Given the description of an element on the screen output the (x, y) to click on. 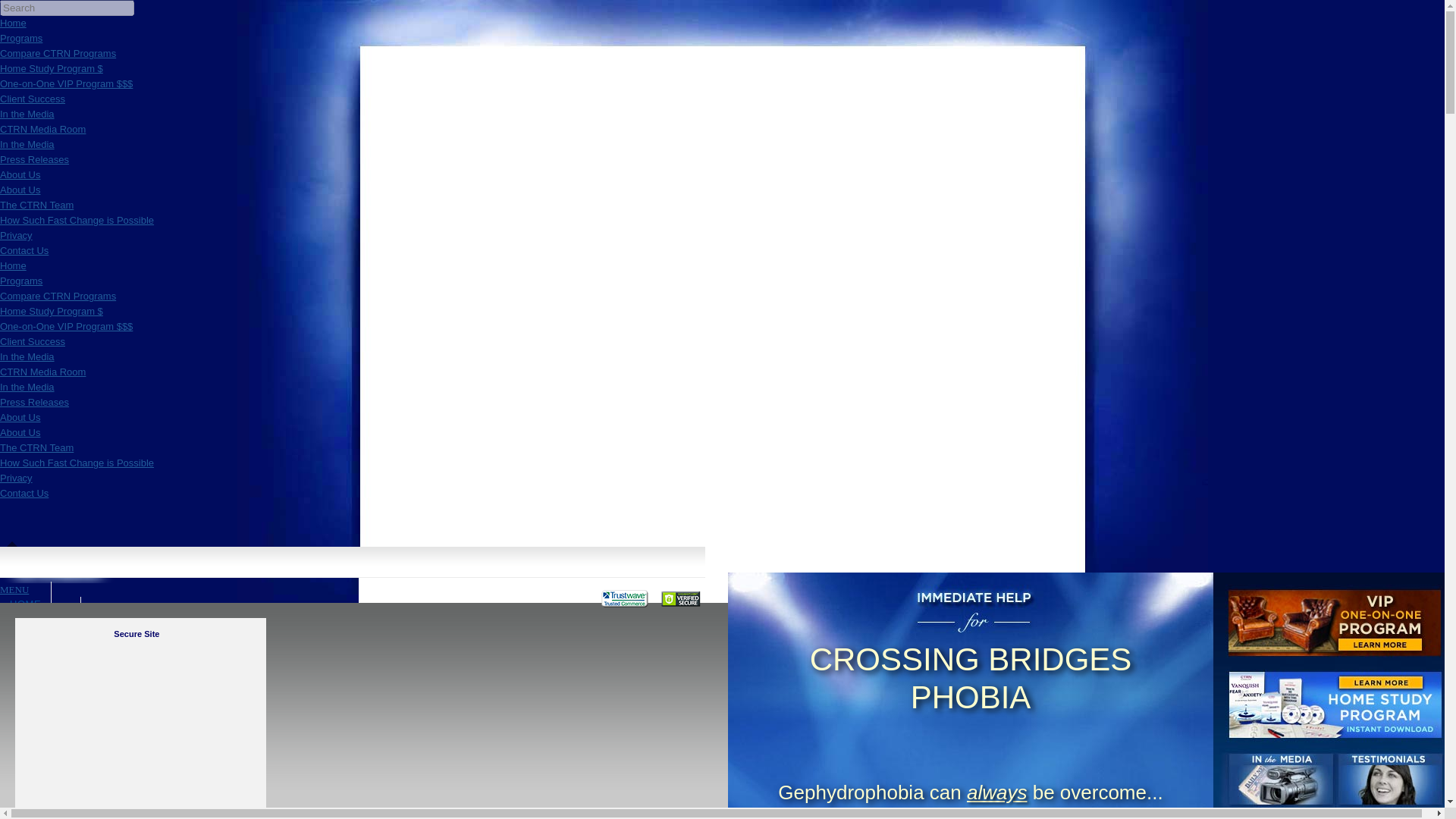
The CTRN Team (37, 204)
Privacy (16, 478)
Client Success (32, 341)
About Us (20, 432)
PROGRAMS (40, 617)
Contact Us (24, 250)
Copies of recent TV footage and press coverage (27, 143)
Home (13, 22)
MENU (14, 589)
How Such Fast Change is Possible (77, 462)
Compare CTRN Programs (58, 52)
About Us (20, 417)
CTRN Media Room (42, 371)
In the Media (27, 387)
